Given the description of an element on the screen output the (x, y) to click on. 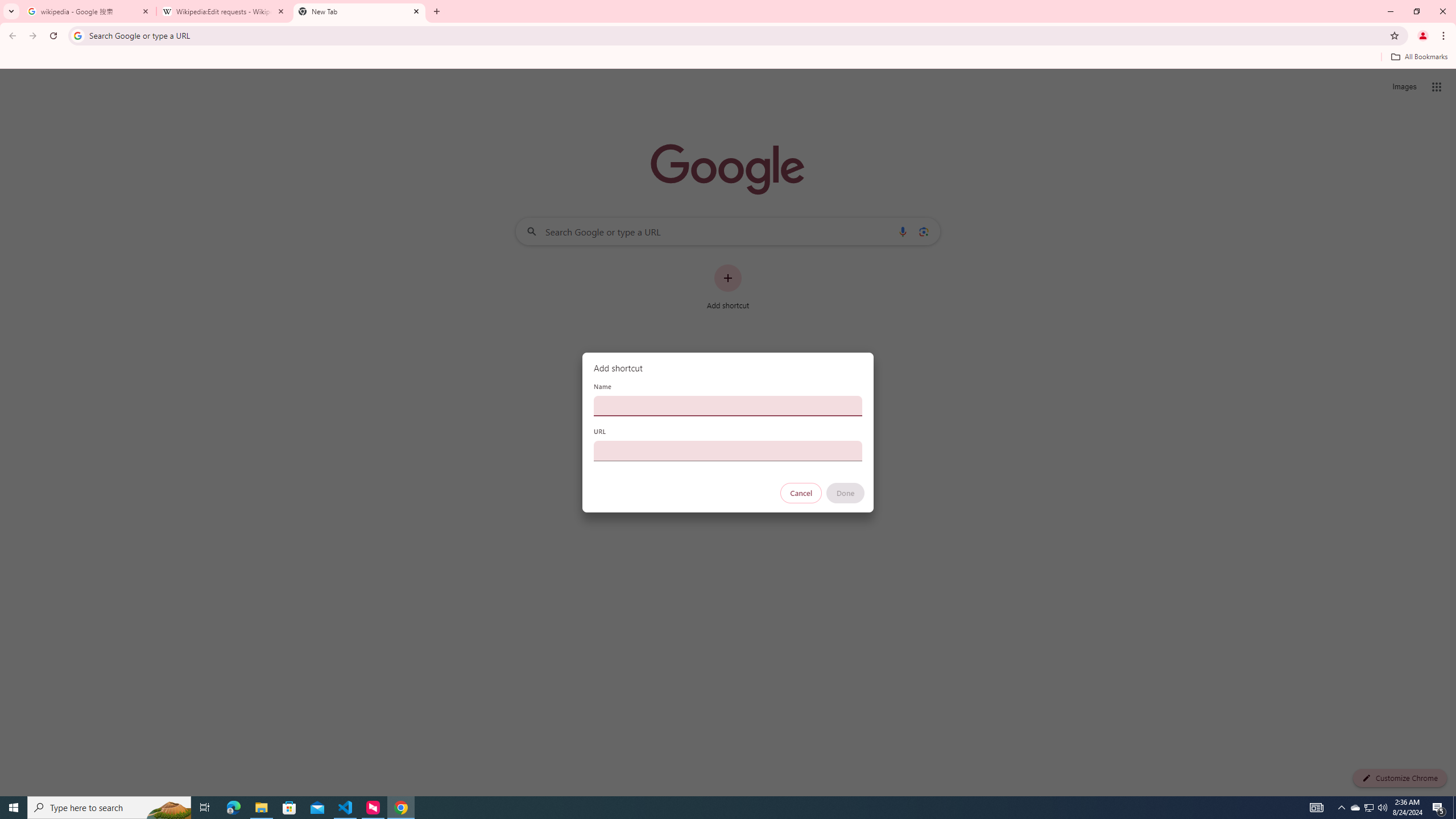
Wikipedia:Edit requests - Wikipedia (224, 11)
Done (845, 493)
